Given the description of an element on the screen output the (x, y) to click on. 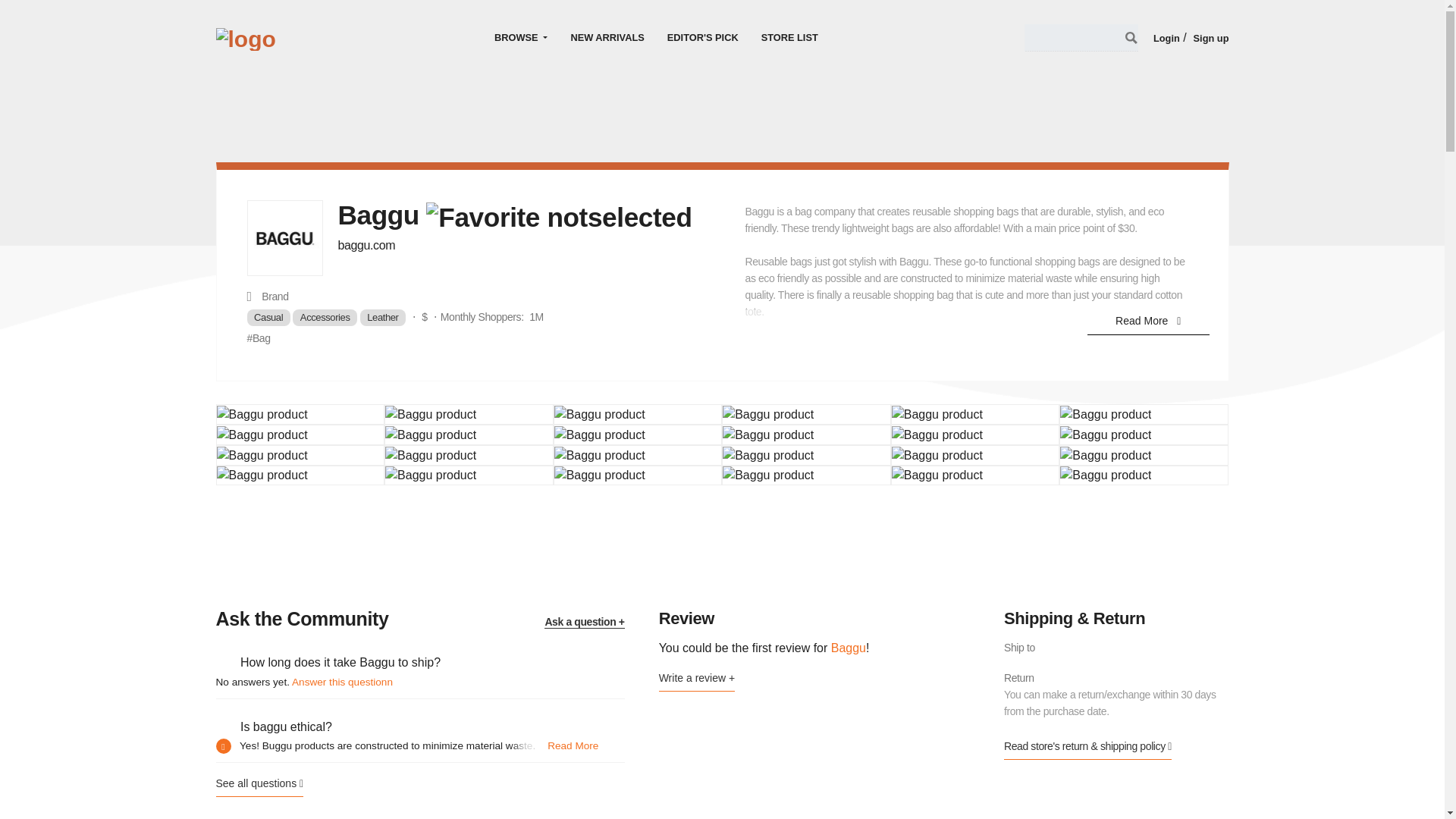
Baggu (1105, 414)
Baggu (261, 414)
Baggu (599, 455)
Baggu (430, 455)
BROWSE (521, 37)
Baggu (936, 455)
Baggu (261, 434)
Baggu (936, 434)
Baggu (1105, 455)
Baggu (936, 414)
Baggu (599, 414)
Baggu (261, 455)
NEW ARRIVALS (607, 37)
Baggu (767, 434)
Baggu (430, 434)
